Given the description of an element on the screen output the (x, y) to click on. 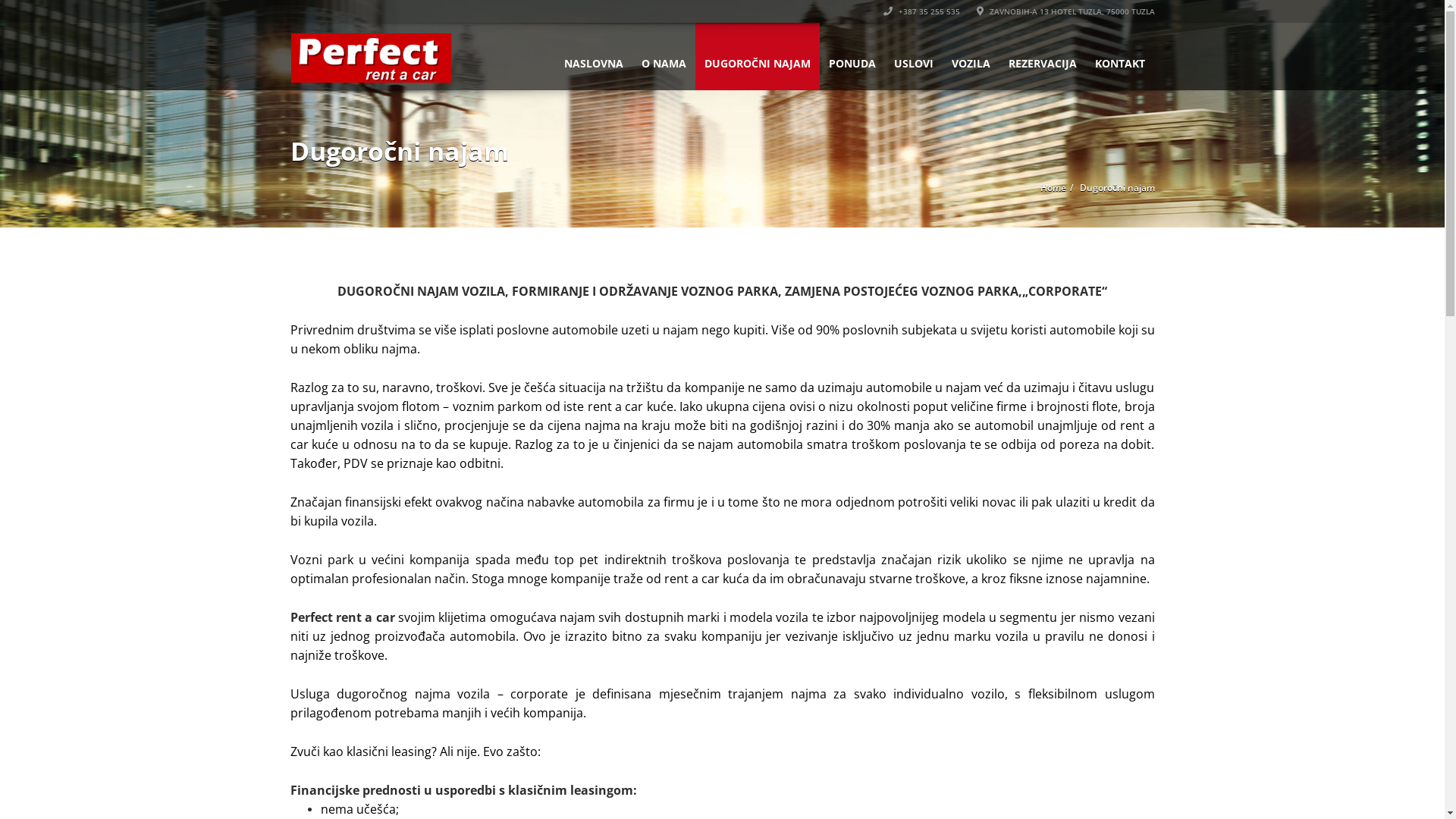
REZERVACIJA Element type: text (1042, 56)
O NAMA Element type: text (663, 56)
ZAVNOBIH-A 13 HOTEL TUZLA, 75000 TUZLA Element type: text (1065, 11)
+387 35 255 535 Element type: text (920, 11)
Home Element type: text (1053, 187)
NASLOVNA Element type: text (593, 56)
USLOVI Element type: text (912, 56)
KONTAKT Element type: text (1119, 56)
VOZILA Element type: text (969, 56)
PONUDA Element type: text (851, 56)
